Given the description of an element on the screen output the (x, y) to click on. 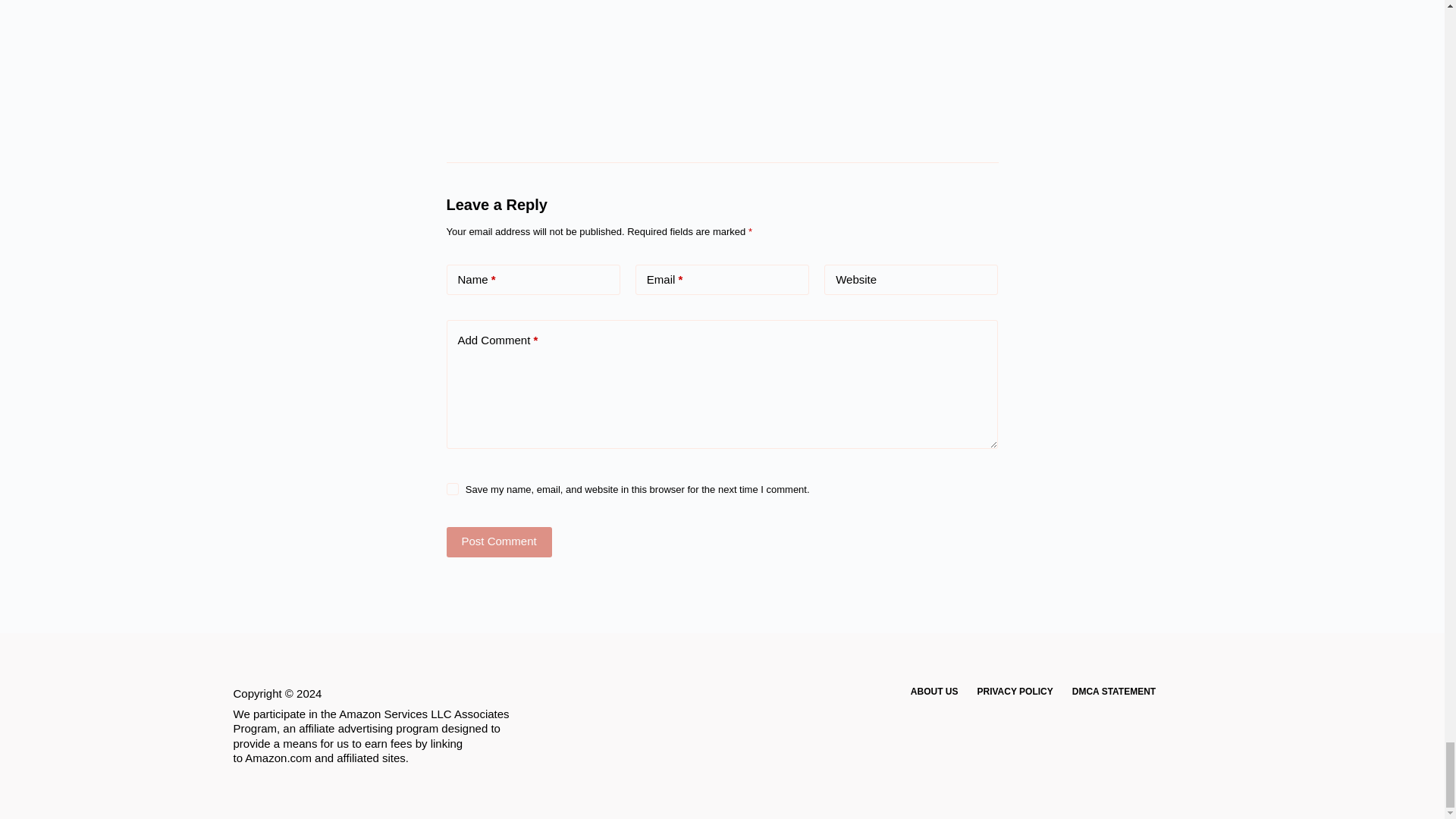
yes (451, 489)
